Given the description of an element on the screen output the (x, y) to click on. 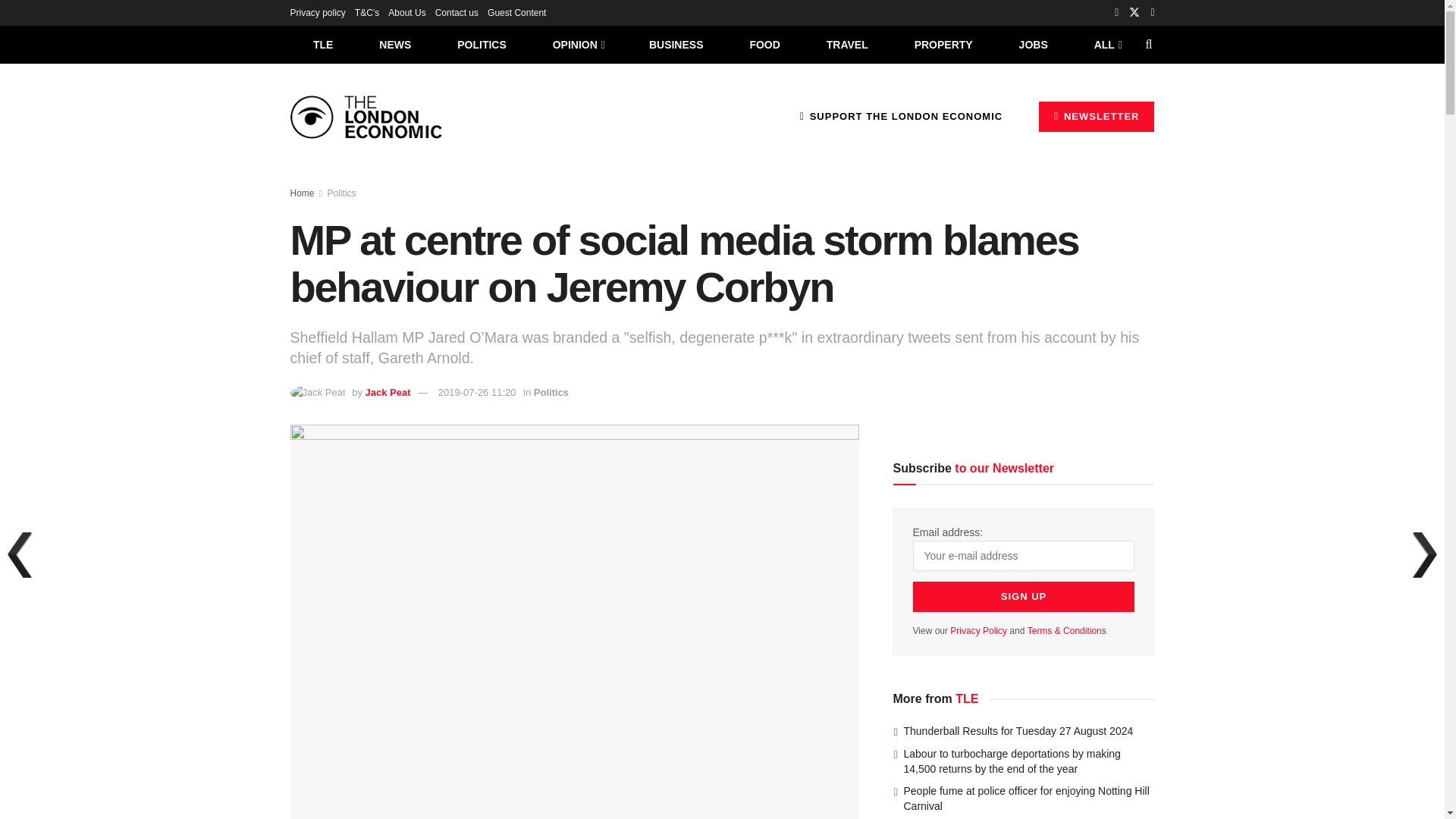
NEWS (394, 44)
TRAVEL (847, 44)
Home (301, 193)
Sign up (1023, 596)
BUSINESS (676, 44)
PROPERTY (943, 44)
POLITICS (481, 44)
About Us (406, 12)
ALL (1106, 44)
OPINION (577, 44)
